Given the description of an element on the screen output the (x, y) to click on. 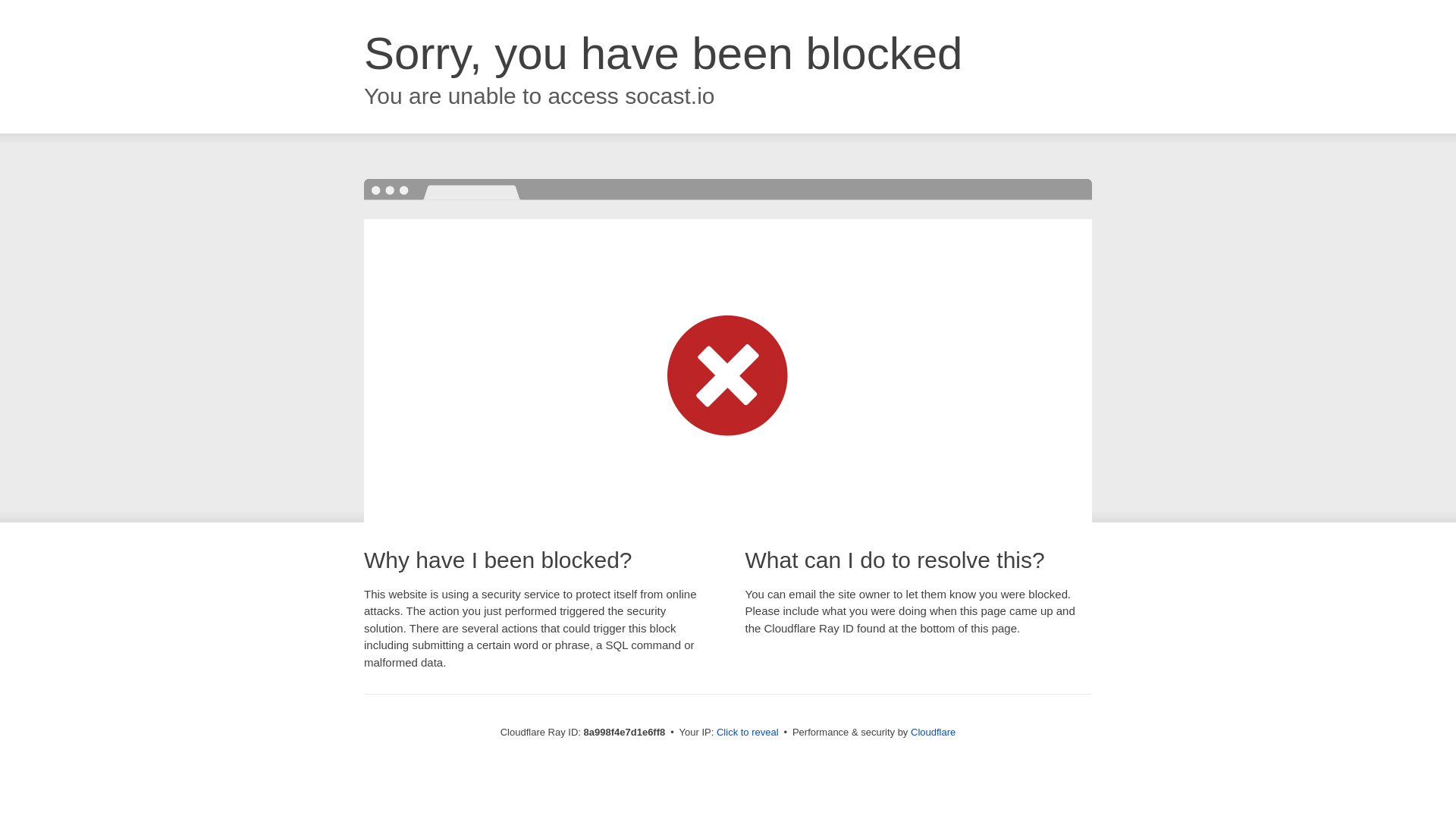
Click to reveal (747, 732)
Cloudflare (933, 731)
